Given the description of an element on the screen output the (x, y) to click on. 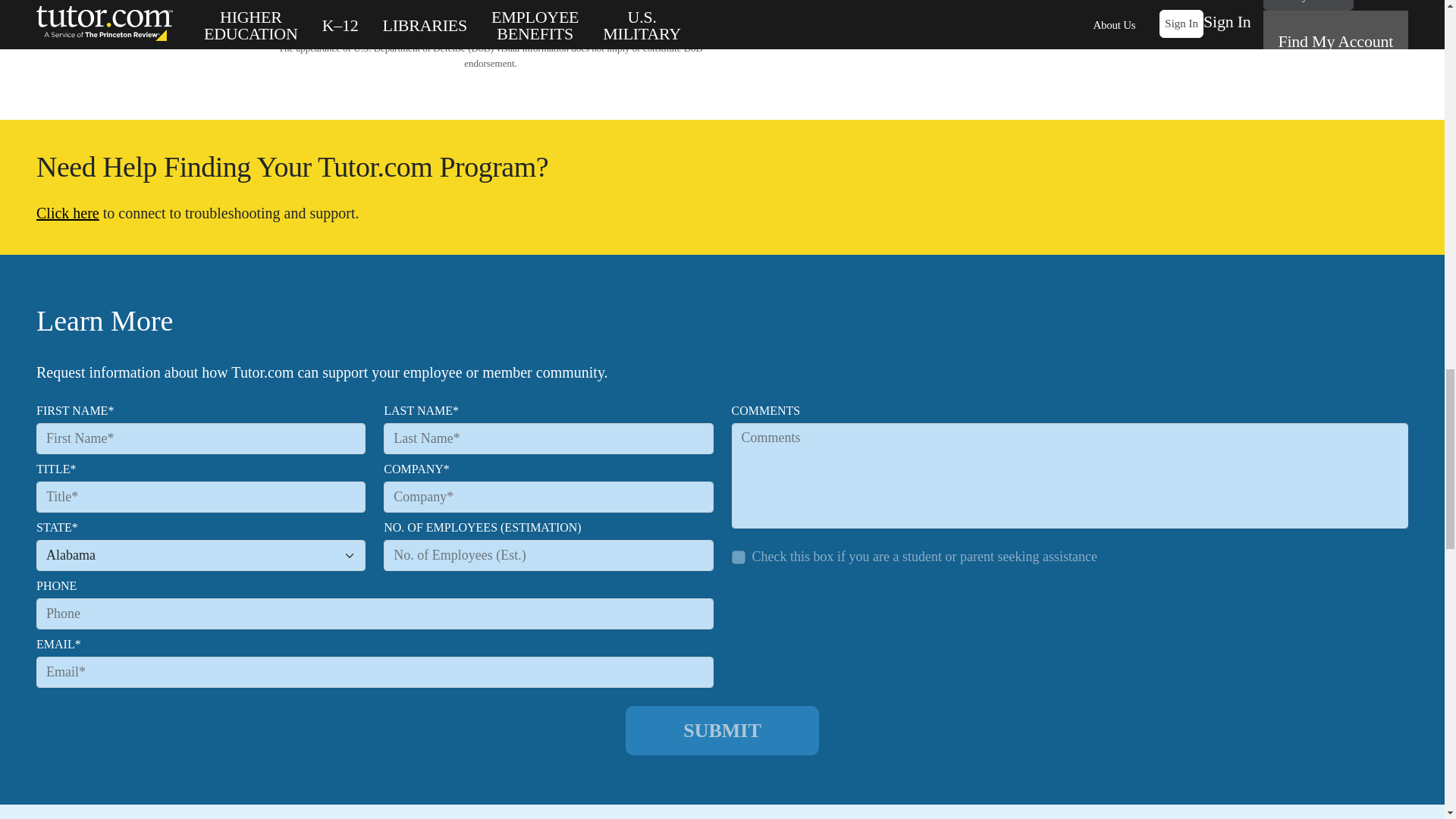
SUBMIT (722, 730)
true (737, 557)
Click here (67, 212)
